Given the description of an element on the screen output the (x, y) to click on. 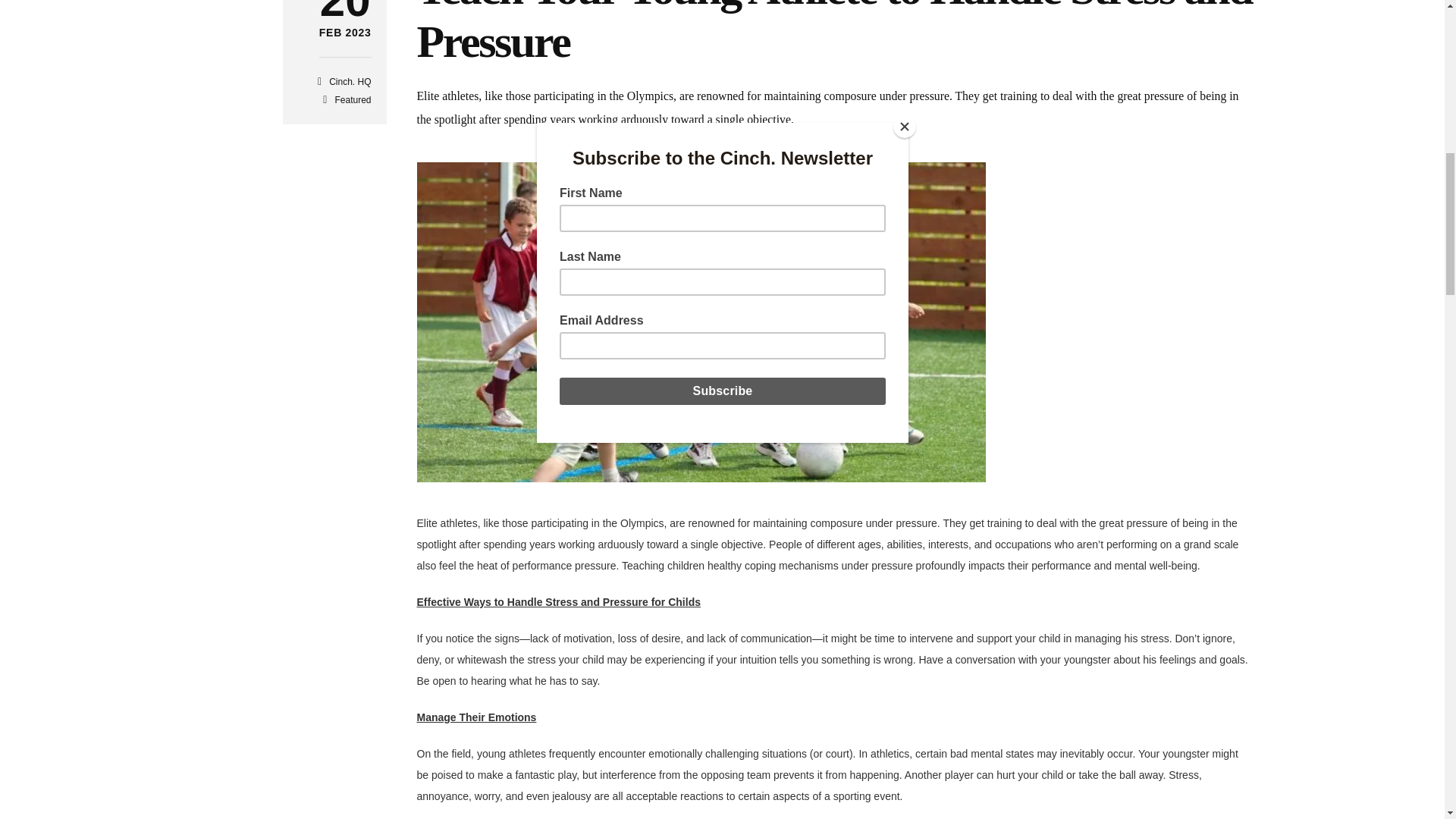
Posts by Cinch. HQ (350, 81)
